Given the description of an element on the screen output the (x, y) to click on. 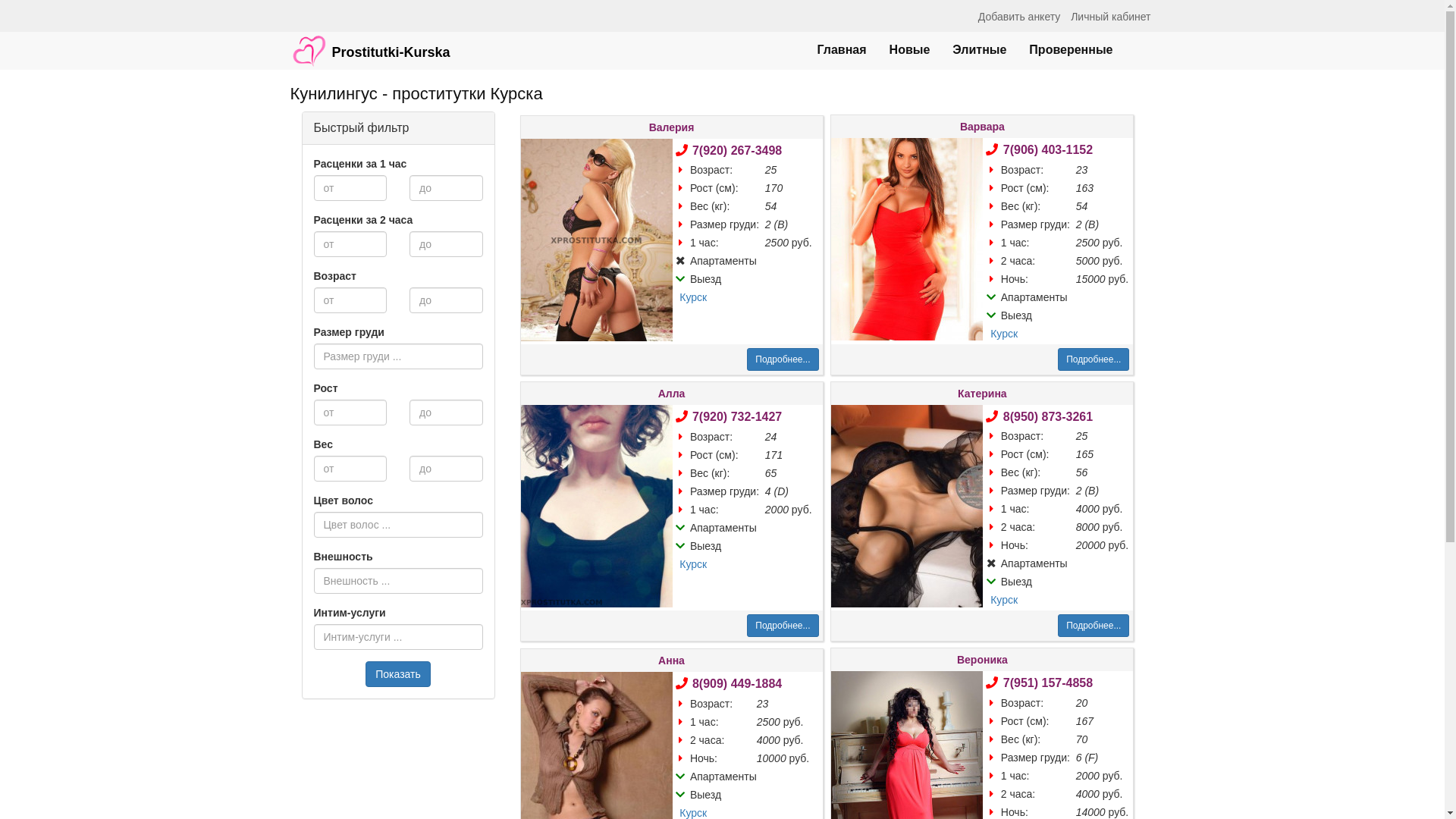
Prostitutki-Kurska Element type: text (370, 43)
